Given the description of an element on the screen output the (x, y) to click on. 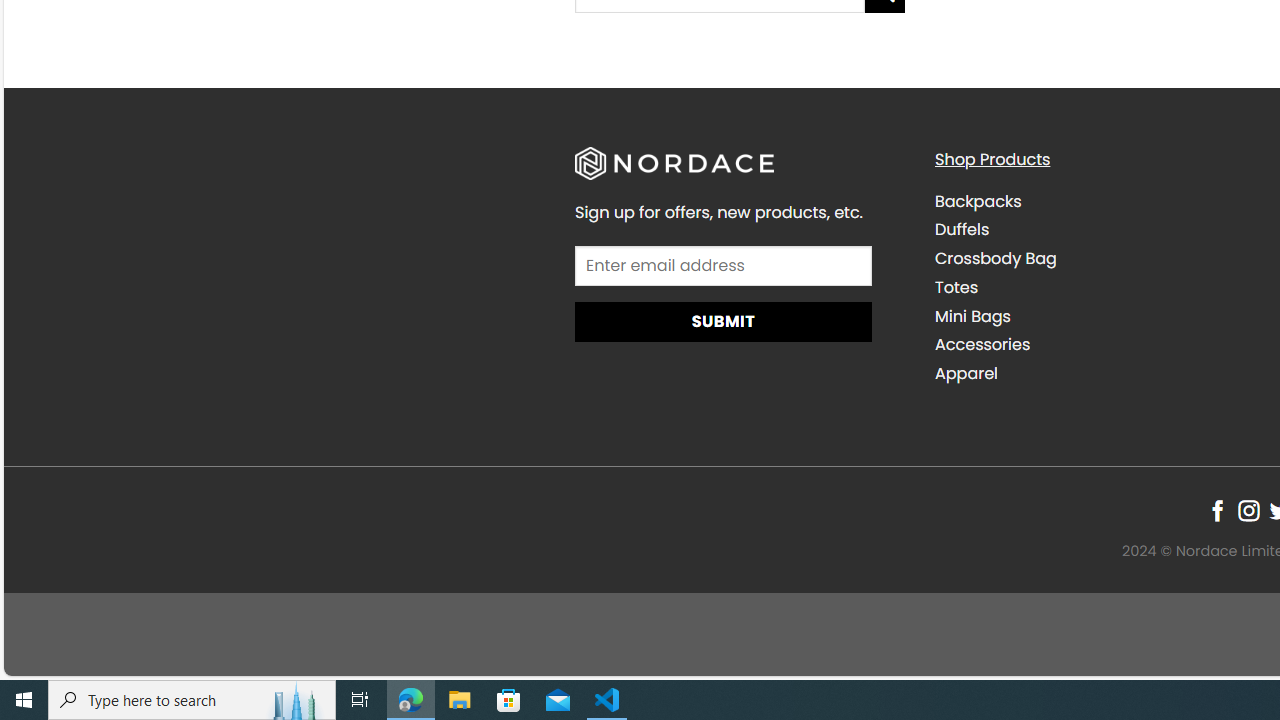
Accessories (982, 344)
Duffels (961, 229)
Apparel (1099, 373)
Mini Bags (972, 315)
AutomationID: field_4_1 (722, 267)
Follow on Facebook (1217, 511)
Accessories (1099, 345)
Totes (955, 286)
Backpacks (977, 200)
Totes (1099, 287)
Crossbody Bag (995, 258)
Submit (722, 321)
Duffels (1099, 229)
Crossbody Bag (1099, 259)
Follow on Instagram (1248, 511)
